Given the description of an element on the screen output the (x, y) to click on. 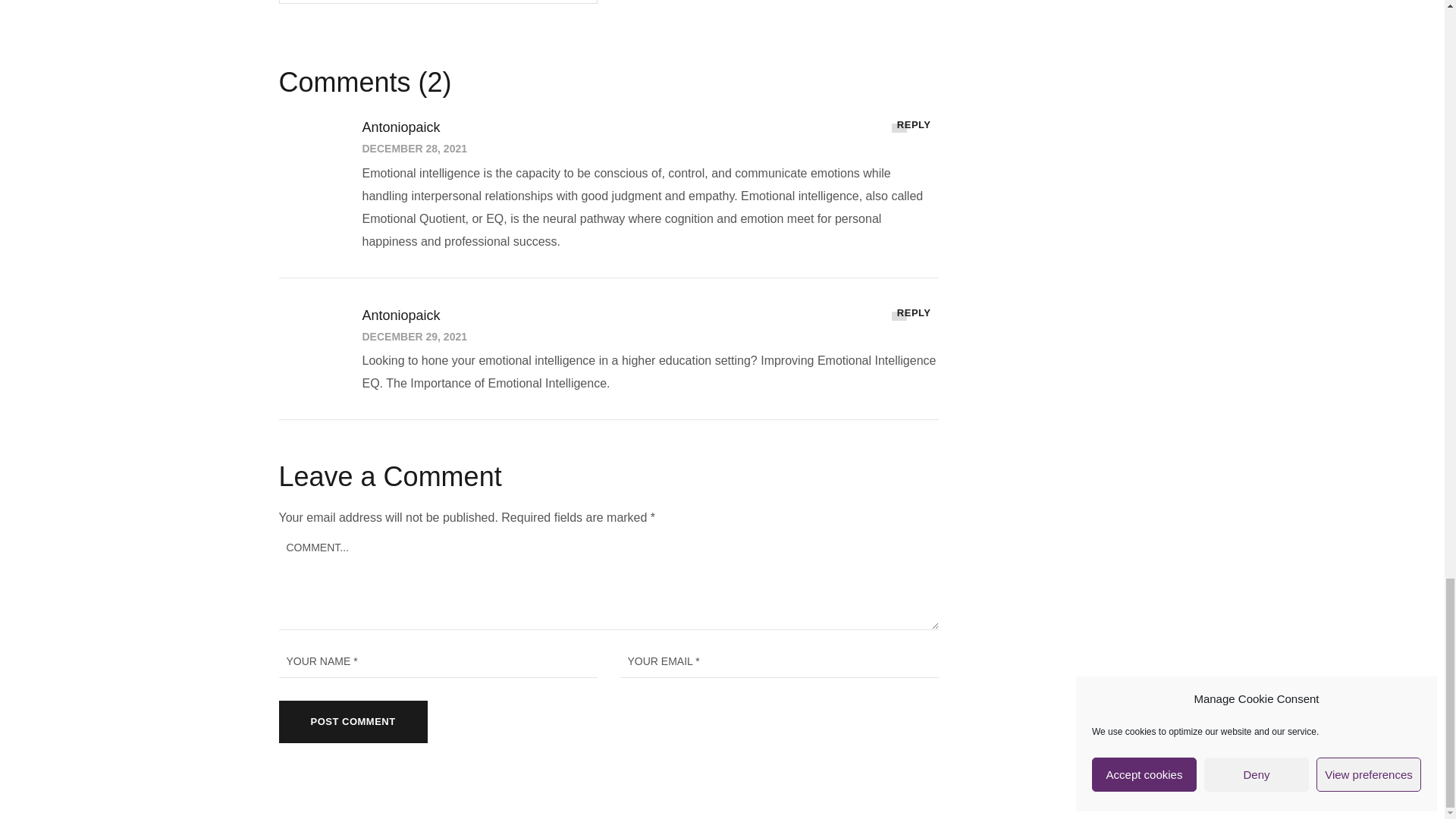
Post Comment (353, 722)
